Given the description of an element on the screen output the (x, y) to click on. 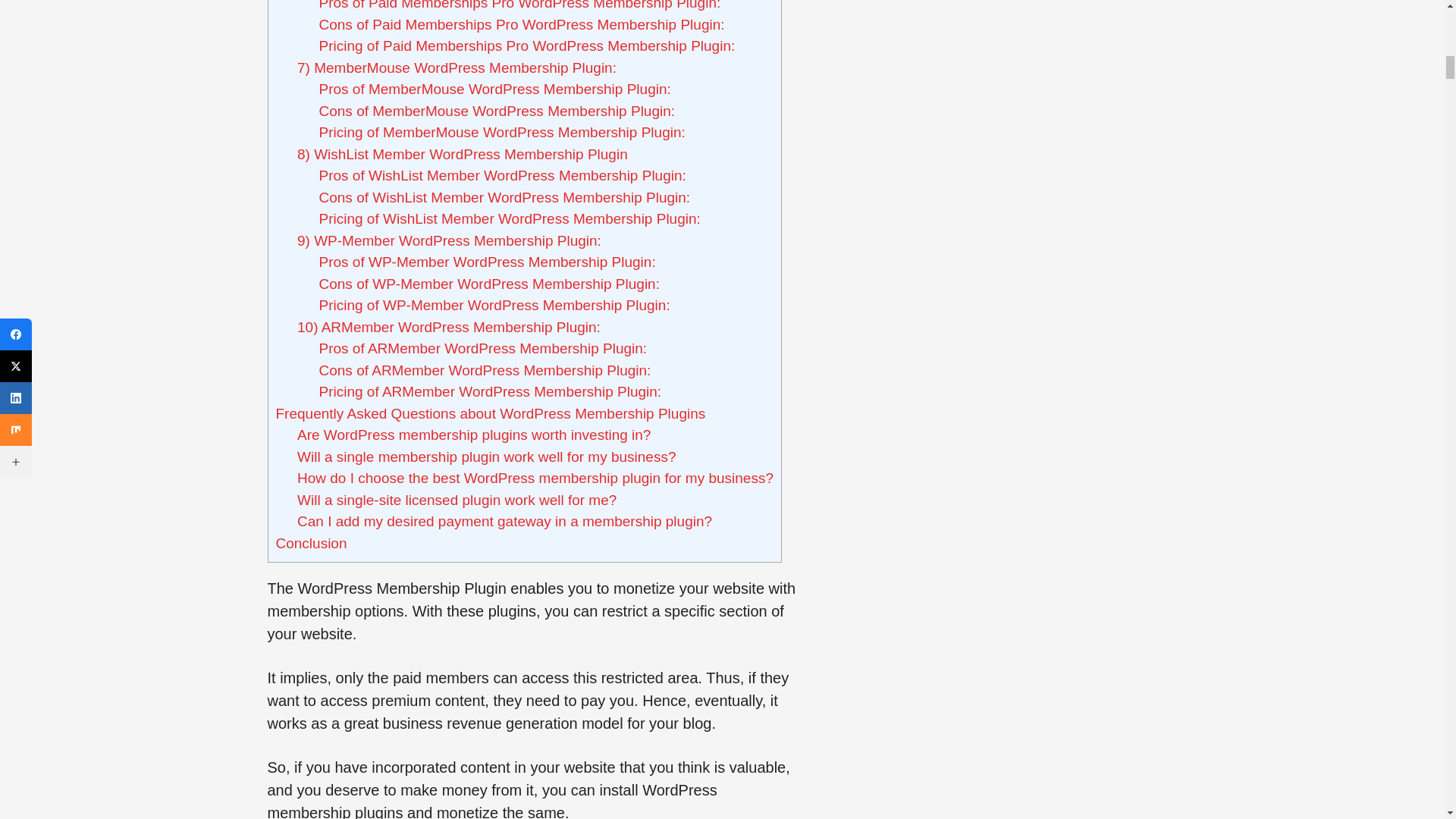
Cons of Paid Memberships Pro WordPress Membership Plugin: (520, 24)
Pricing of Paid Memberships Pro WordPress Membership Plugin: (526, 45)
Pros of Paid Memberships Pro WordPress Membership Plugin: (519, 5)
